Given the description of an element on the screen output the (x, y) to click on. 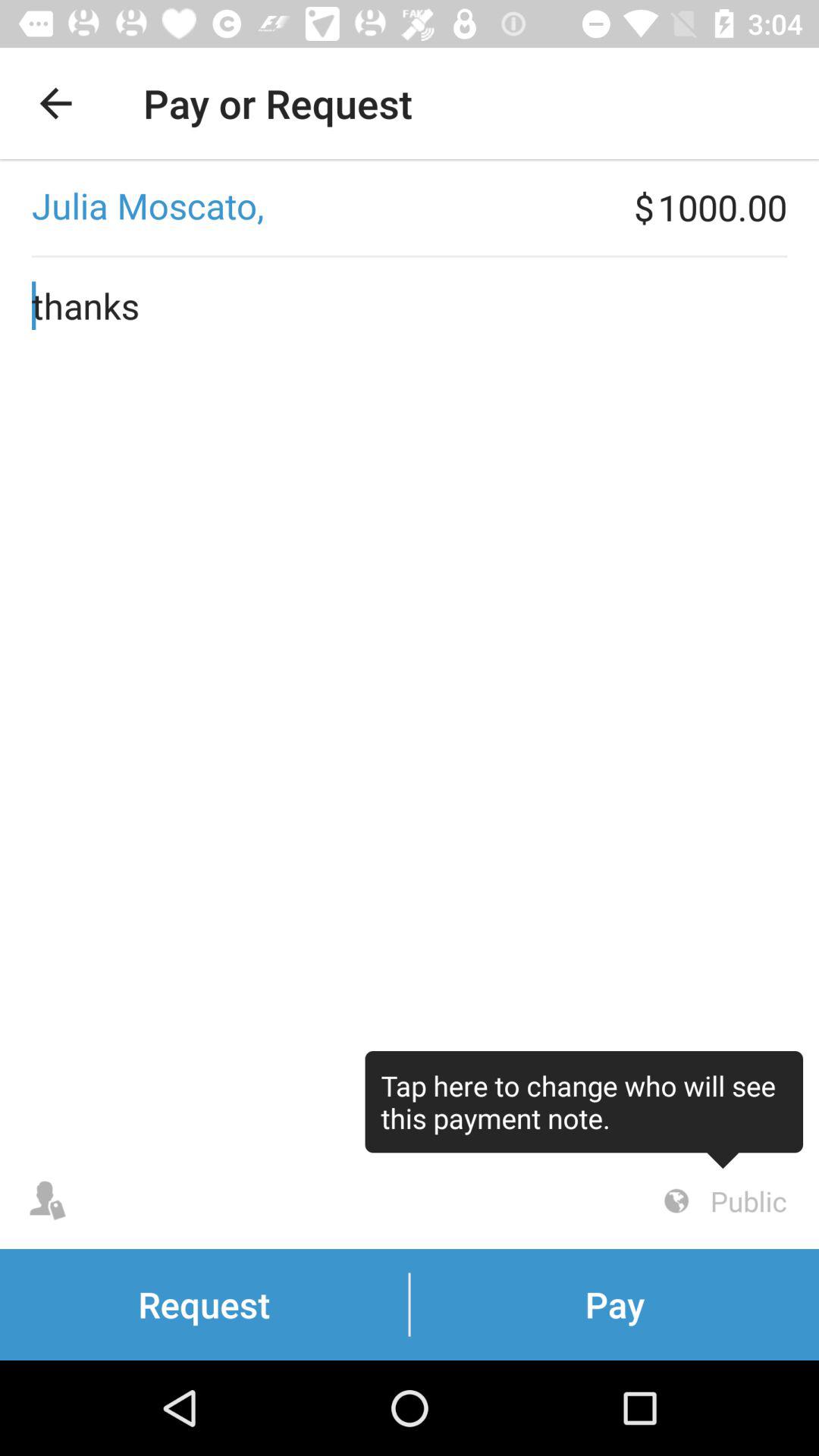
select the thanks item (409, 705)
